Given the description of an element on the screen output the (x, y) to click on. 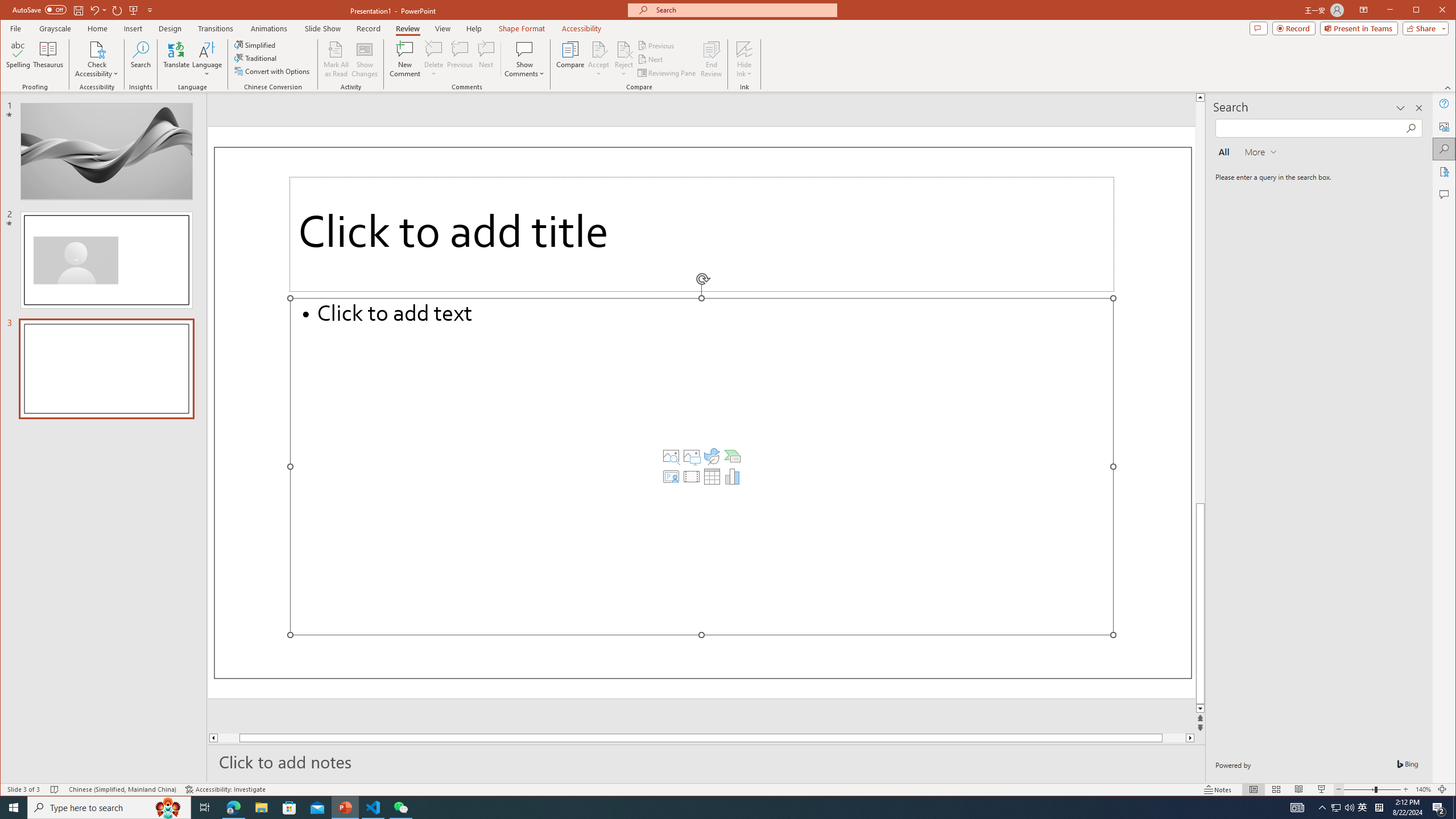
Microsoft Edge - 1 running window (233, 807)
Compare (569, 59)
Delete (433, 59)
Reject (623, 59)
Insert Chart (732, 476)
Translate (175, 59)
Check Accessibility (96, 59)
Hide Ink (744, 48)
User Promoted Notification Area (1342, 807)
Insert Video (691, 476)
